Given the description of an element on the screen output the (x, y) to click on. 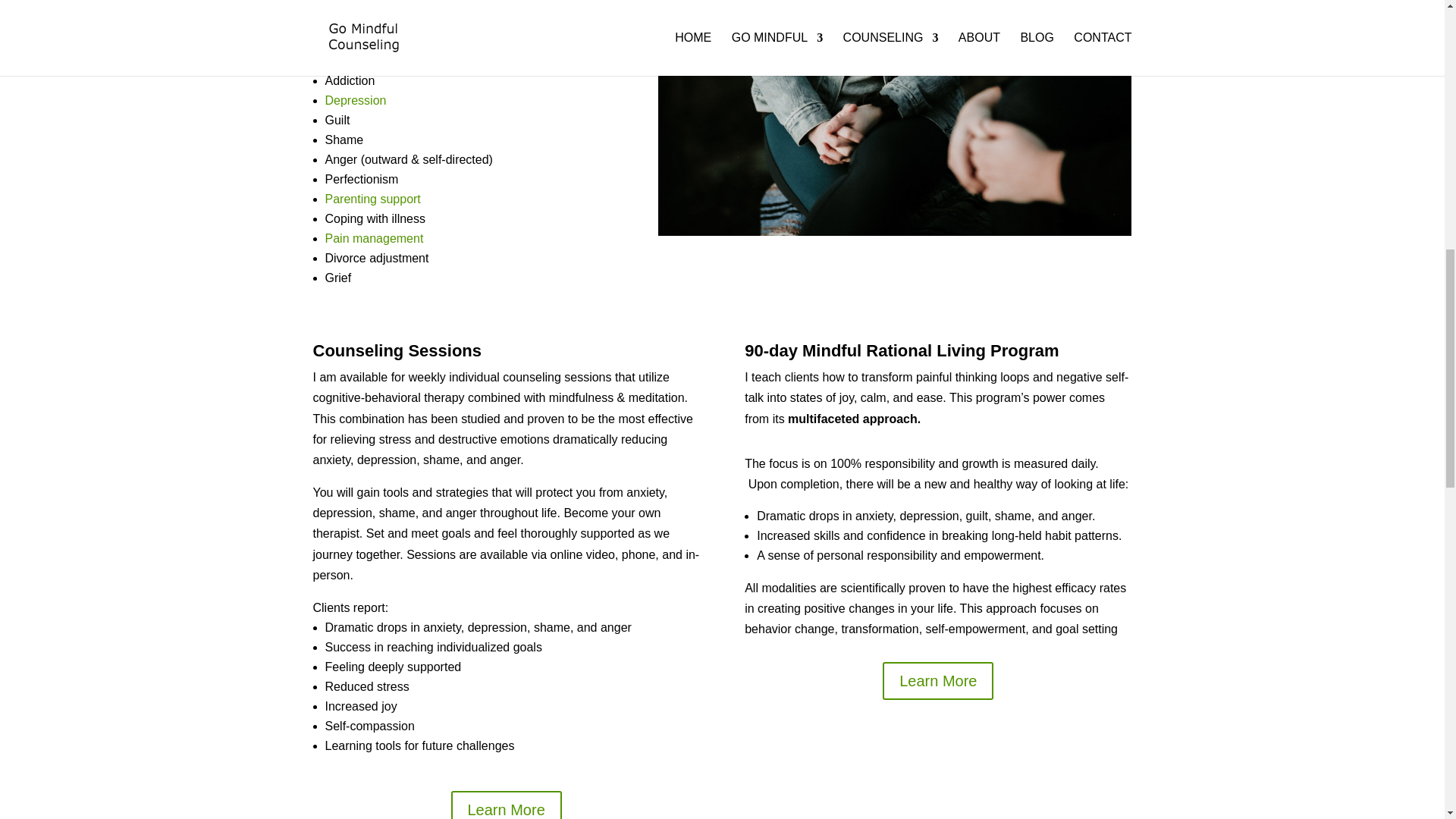
priscilla-du-preez-F9DFuJoS9EU-unsplash (894, 117)
Depression (354, 100)
Pain management (373, 237)
Parenting support (372, 198)
Panic attacks (360, 4)
